Given the description of an element on the screen output the (x, y) to click on. 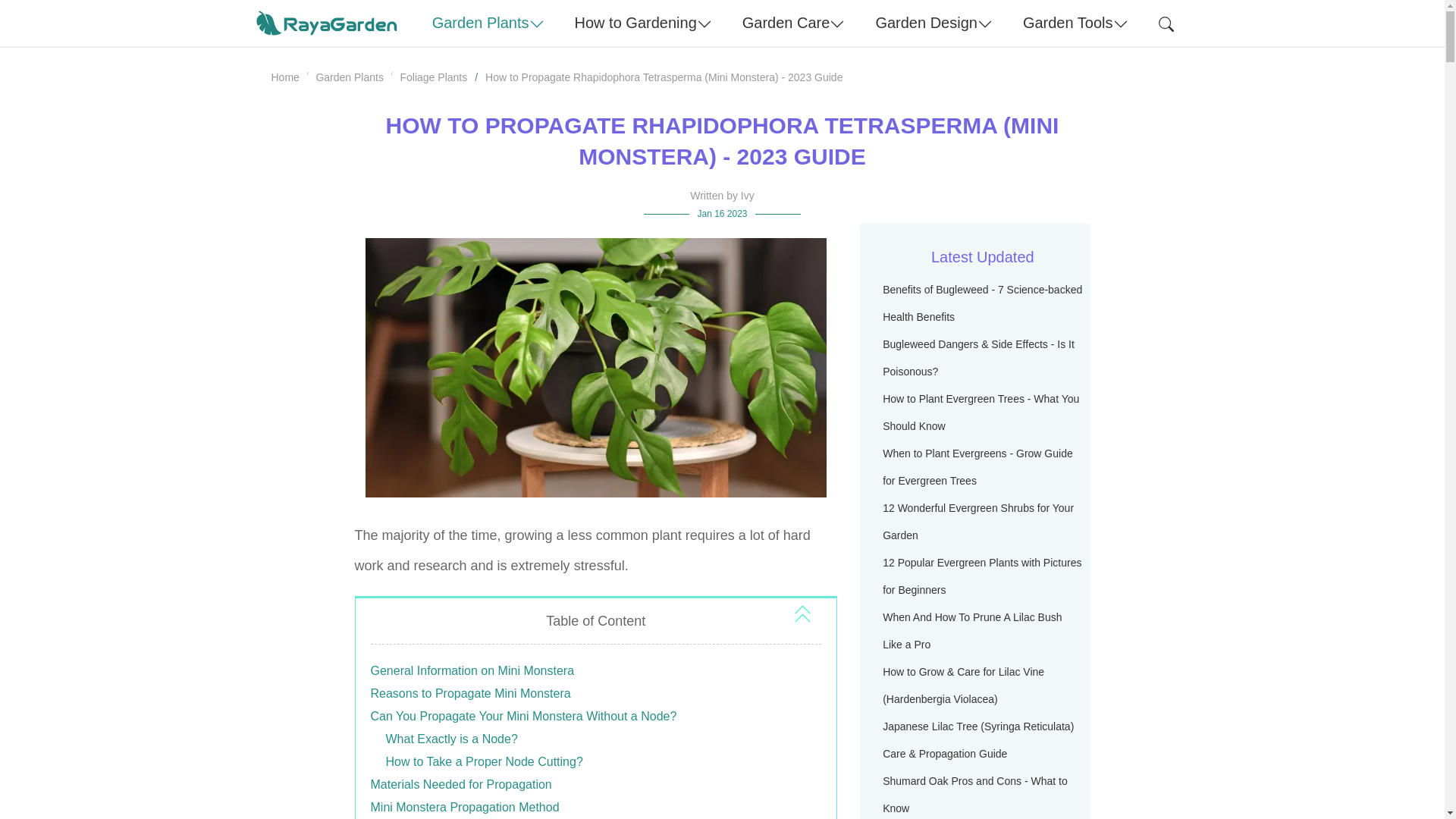
Garden Design (933, 23)
How to Gardening (642, 23)
Garden Plants (487, 23)
Garden Care (793, 23)
